Given the description of an element on the screen output the (x, y) to click on. 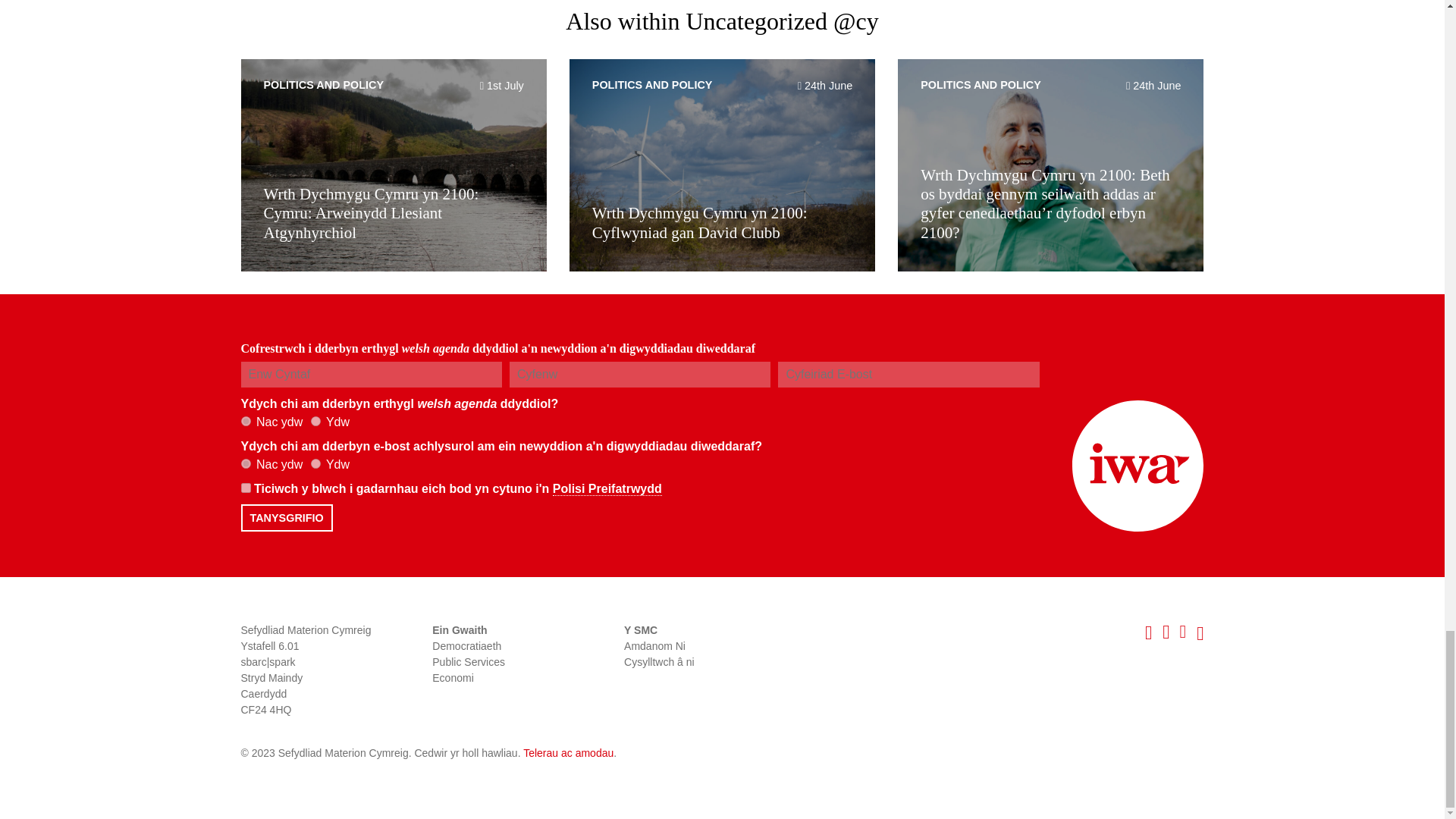
Yes (315, 420)
Yes (315, 463)
No (245, 463)
No (245, 420)
Tanysgrifio (287, 517)
on (245, 488)
